Given the description of an element on the screen output the (x, y) to click on. 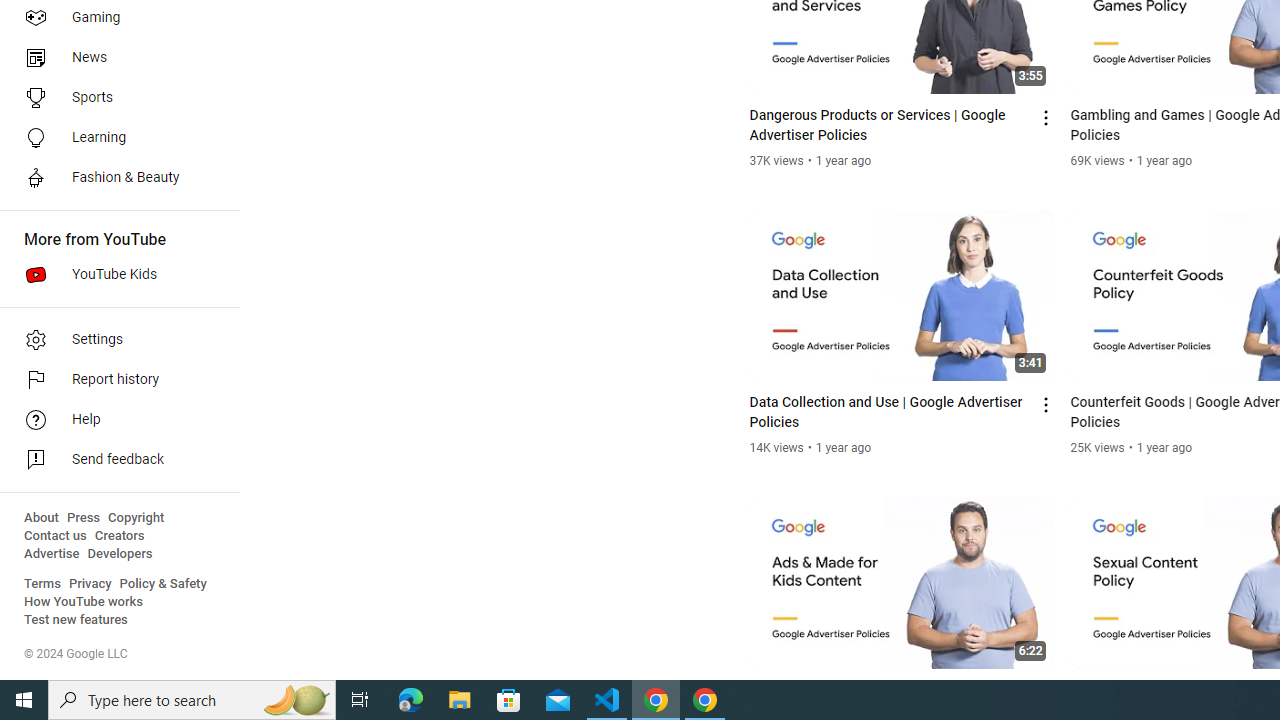
Copyright (136, 518)
Sports (113, 97)
News (113, 57)
About (41, 518)
Fashion & Beauty (113, 177)
Action menu (1046, 691)
Test new features (76, 620)
Report history (113, 380)
